Given the description of an element on the screen output the (x, y) to click on. 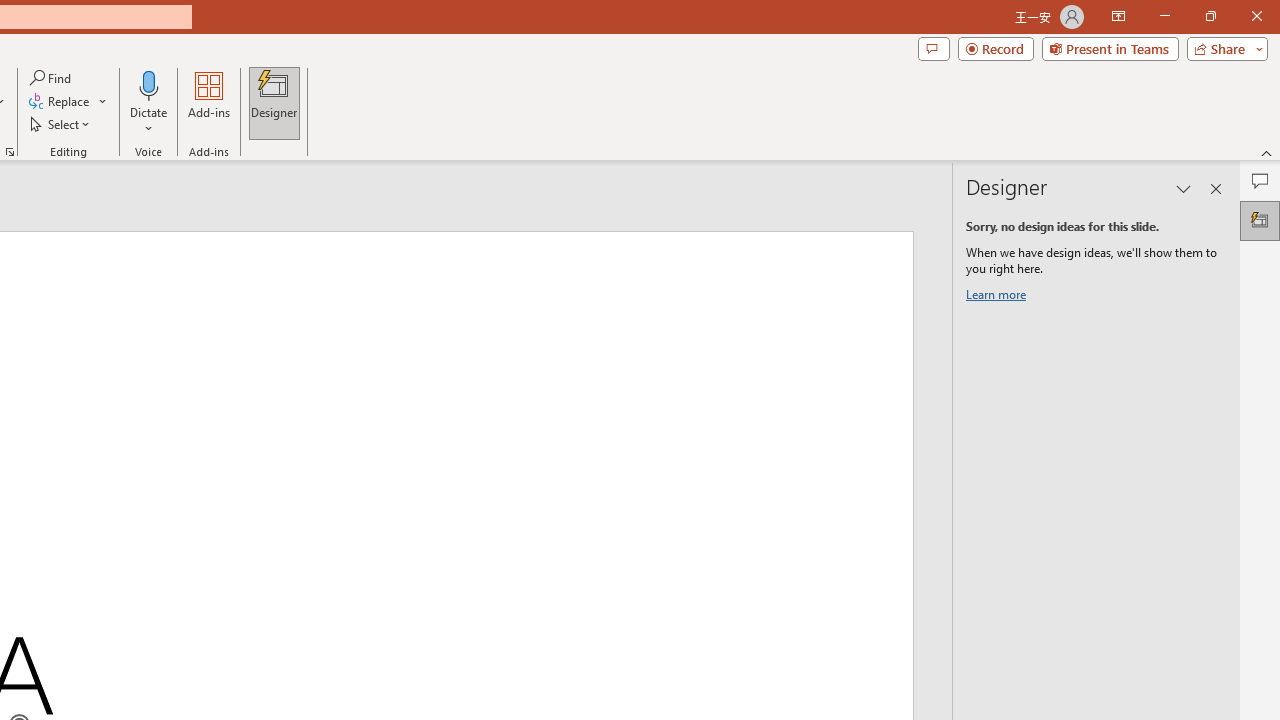
Learn more (998, 297)
